Given the description of an element on the screen output the (x, y) to click on. 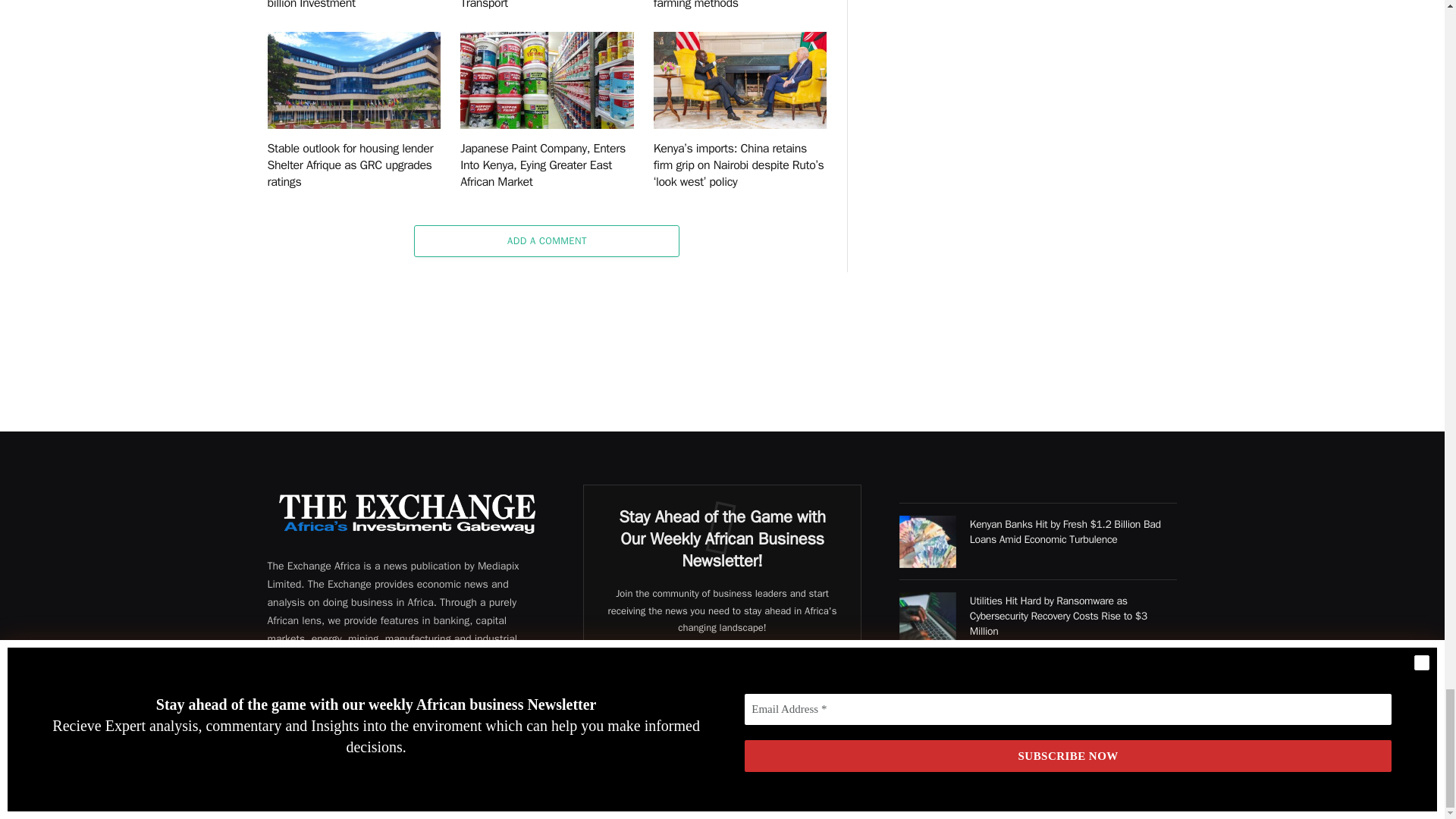
on (624, 748)
Subscribe (721, 711)
